Given the description of an element on the screen output the (x, y) to click on. 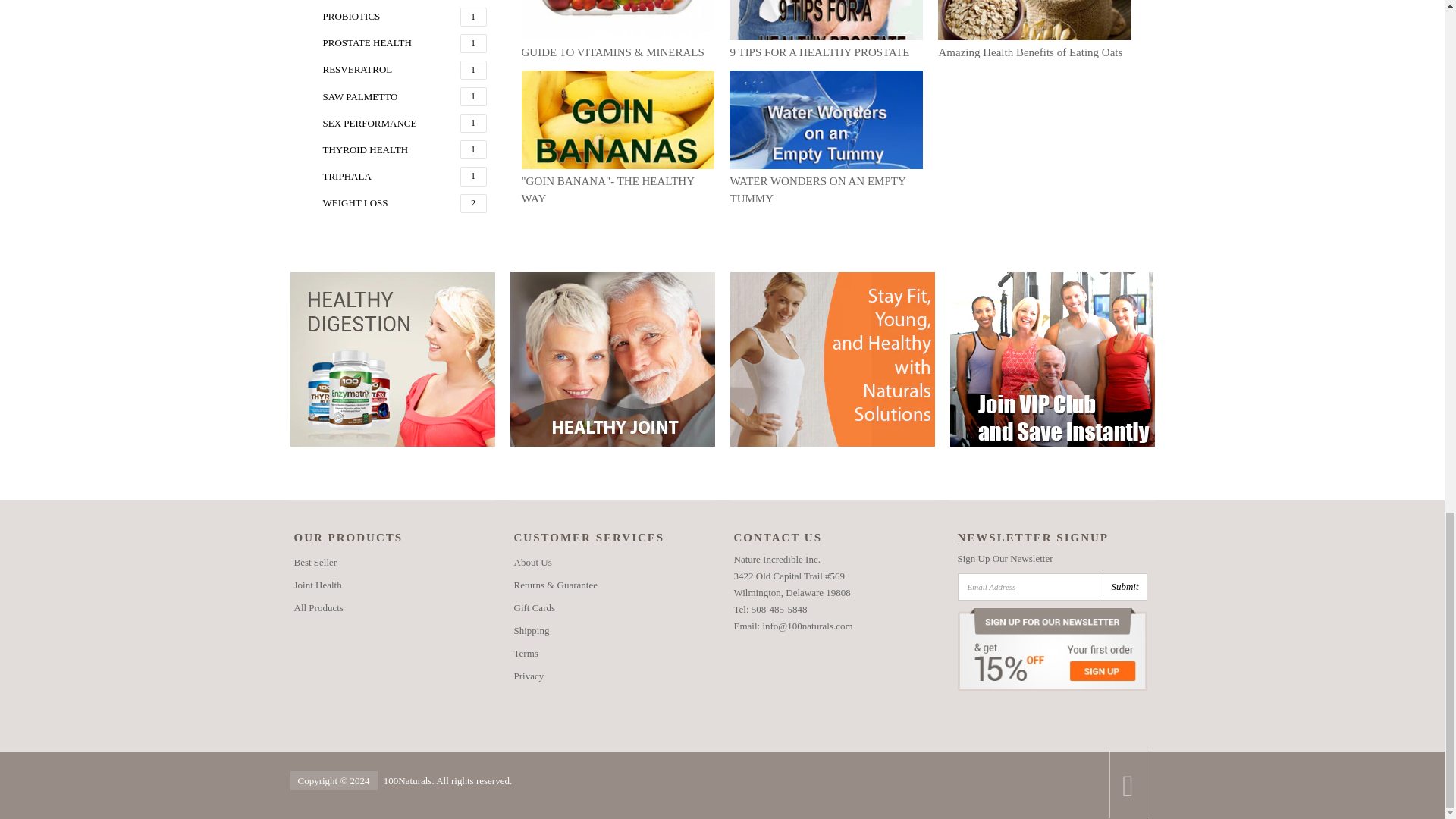
Submit (1124, 586)
